Given the description of an element on the screen output the (x, y) to click on. 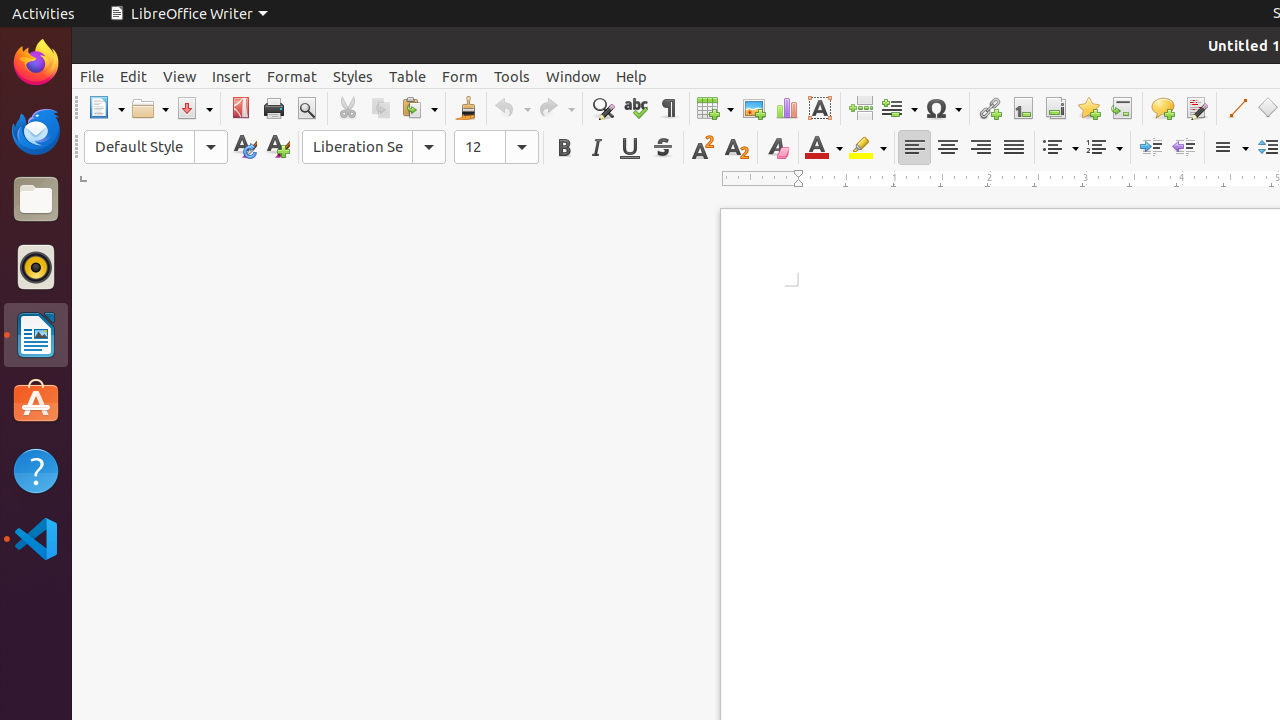
Paragraph Style Element type: combo-box (156, 147)
Track Changes Functions Element type: toggle-button (1195, 108)
Copy Element type: push-button (380, 108)
Font Size Element type: combo-box (496, 147)
New Element type: push-button (277, 147)
